Given the description of an element on the screen output the (x, y) to click on. 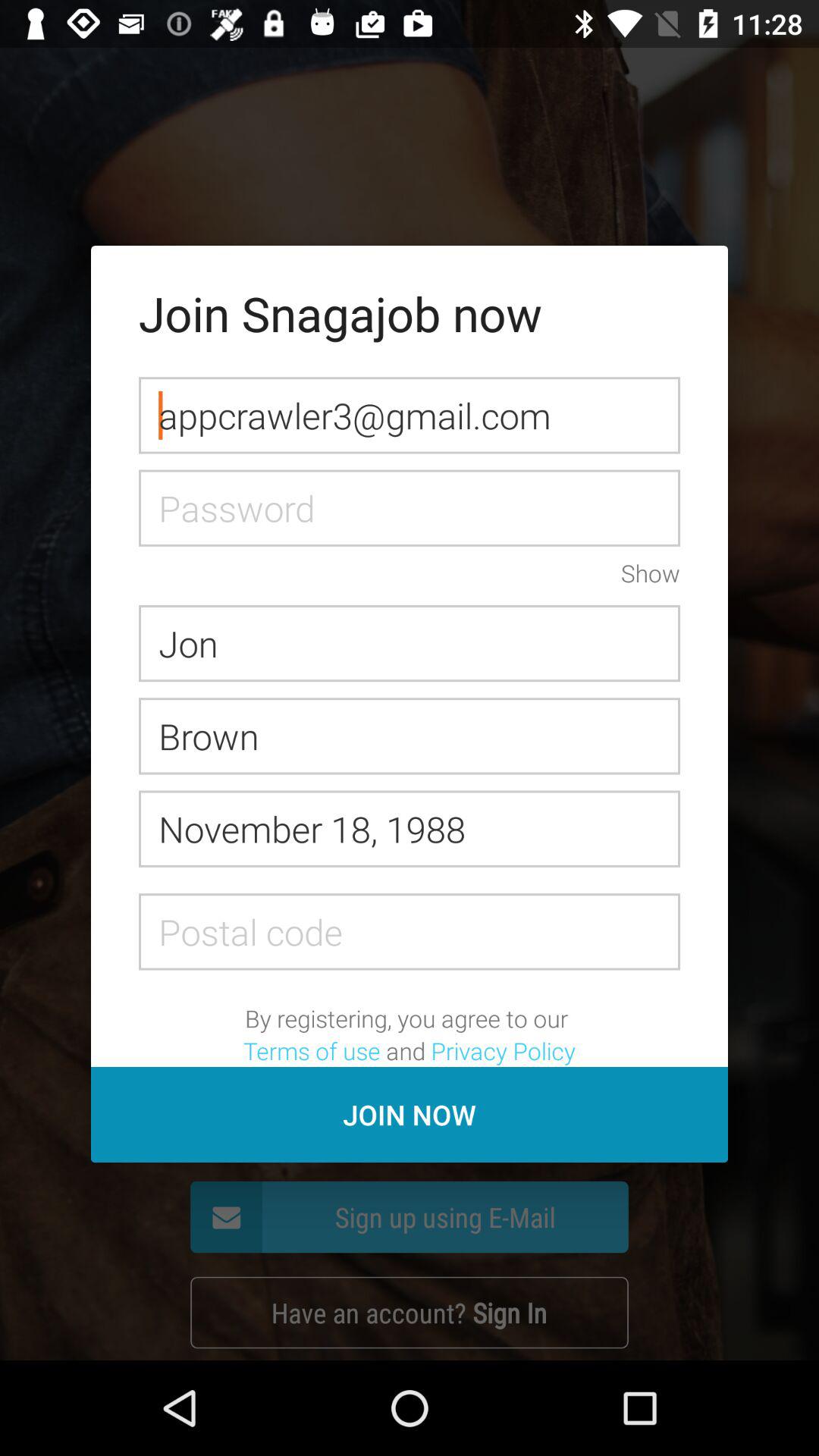
enter birthdate (409, 828)
